Given the description of an element on the screen output the (x, y) to click on. 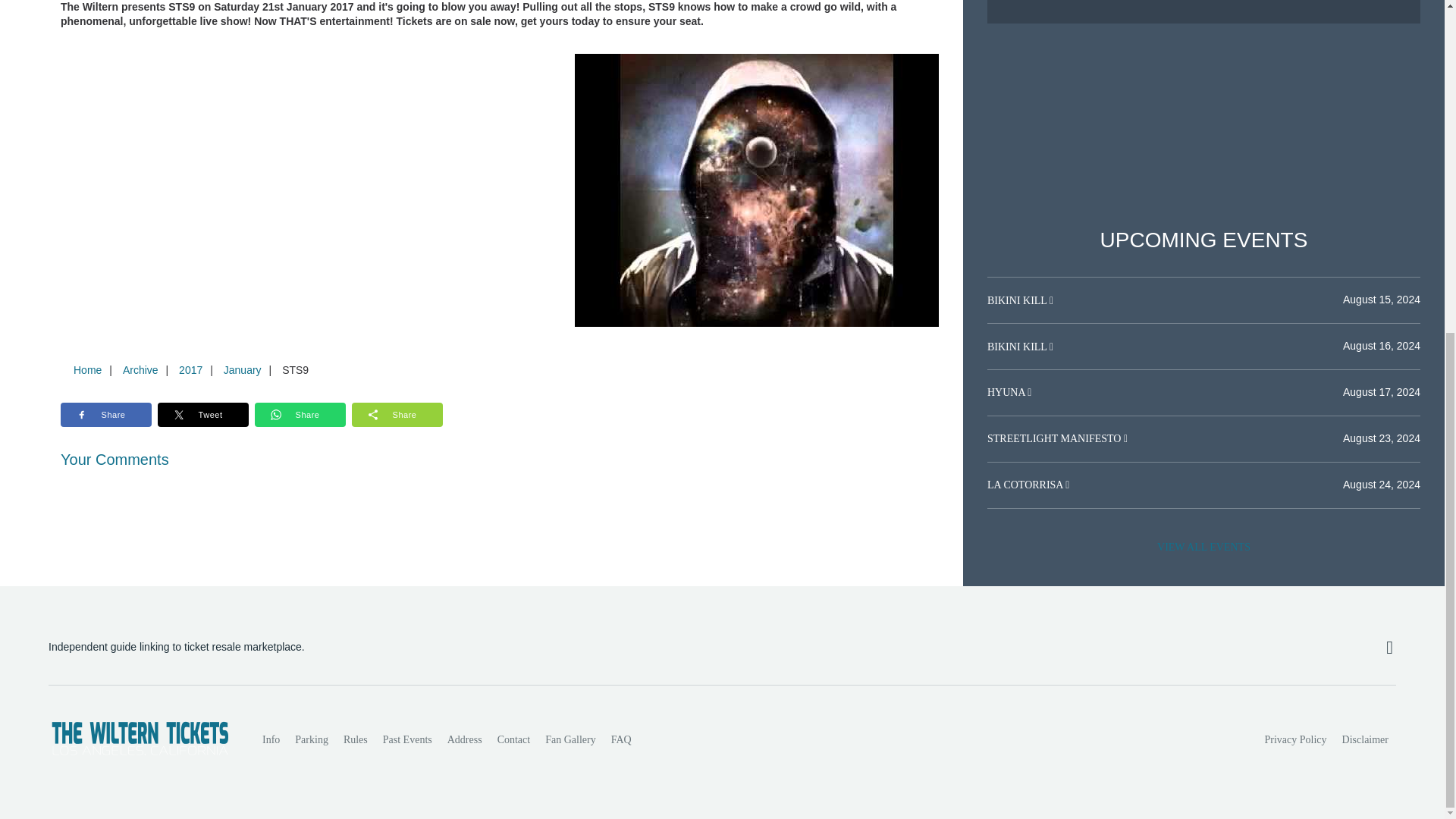
STREETLIGHT MANIFESTO (1055, 438)
HYUNA (1007, 392)
Archive (140, 369)
Rules (355, 739)
BIKINI KILL (1018, 346)
FAQ (621, 739)
Address (464, 739)
Past Events (407, 739)
Privacy Policy (1296, 739)
BIKINI KILL (1018, 300)
